Given the description of an element on the screen output the (x, y) to click on. 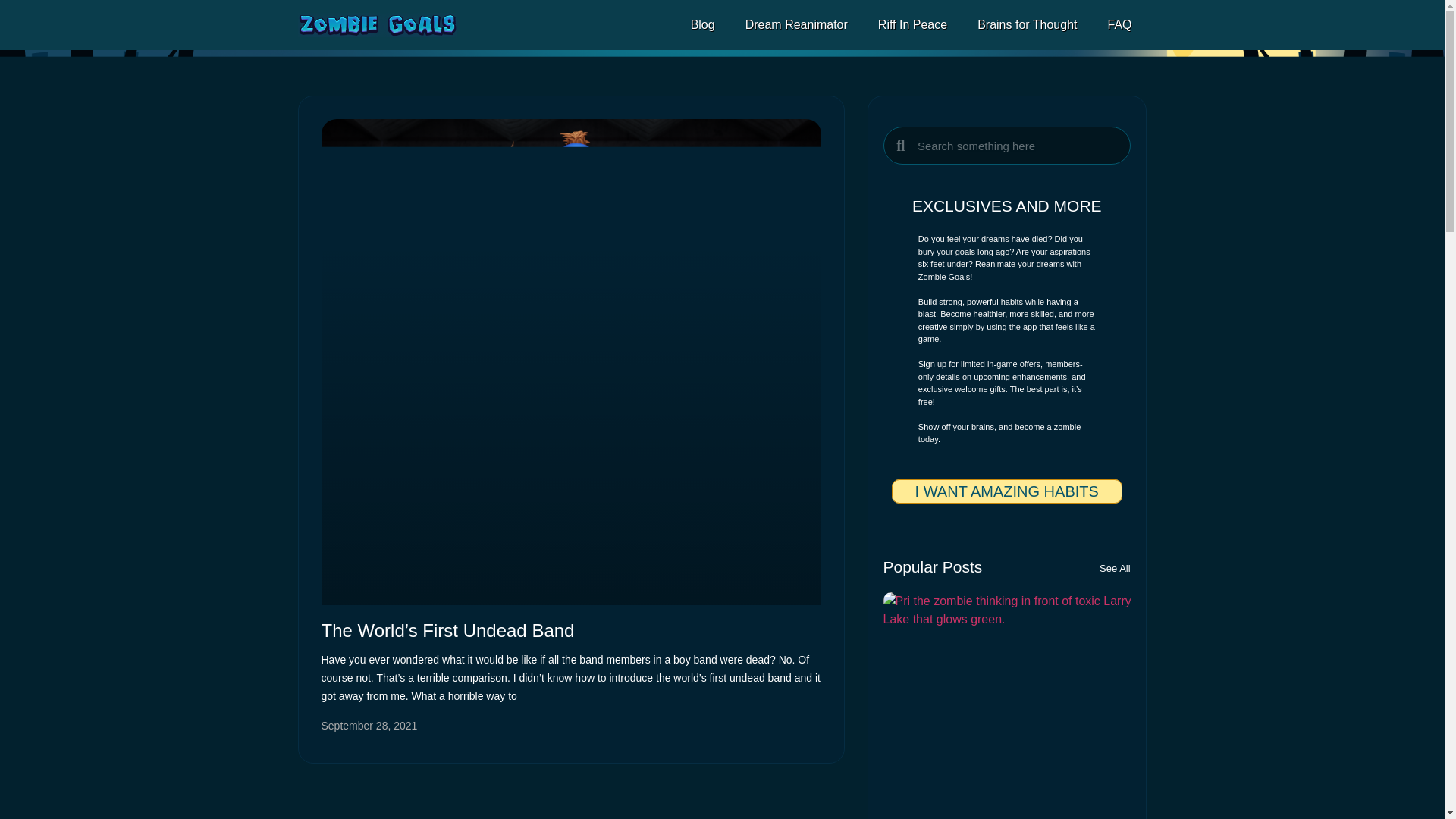
Brains for Thought (1027, 24)
FAQ (1119, 24)
Blog (702, 24)
Search (1016, 145)
See All (1114, 568)
Riff In Peace (912, 24)
I WANT AMAZING HABITS (1006, 491)
Dream Reanimator (796, 24)
